Given the description of an element on the screen output the (x, y) to click on. 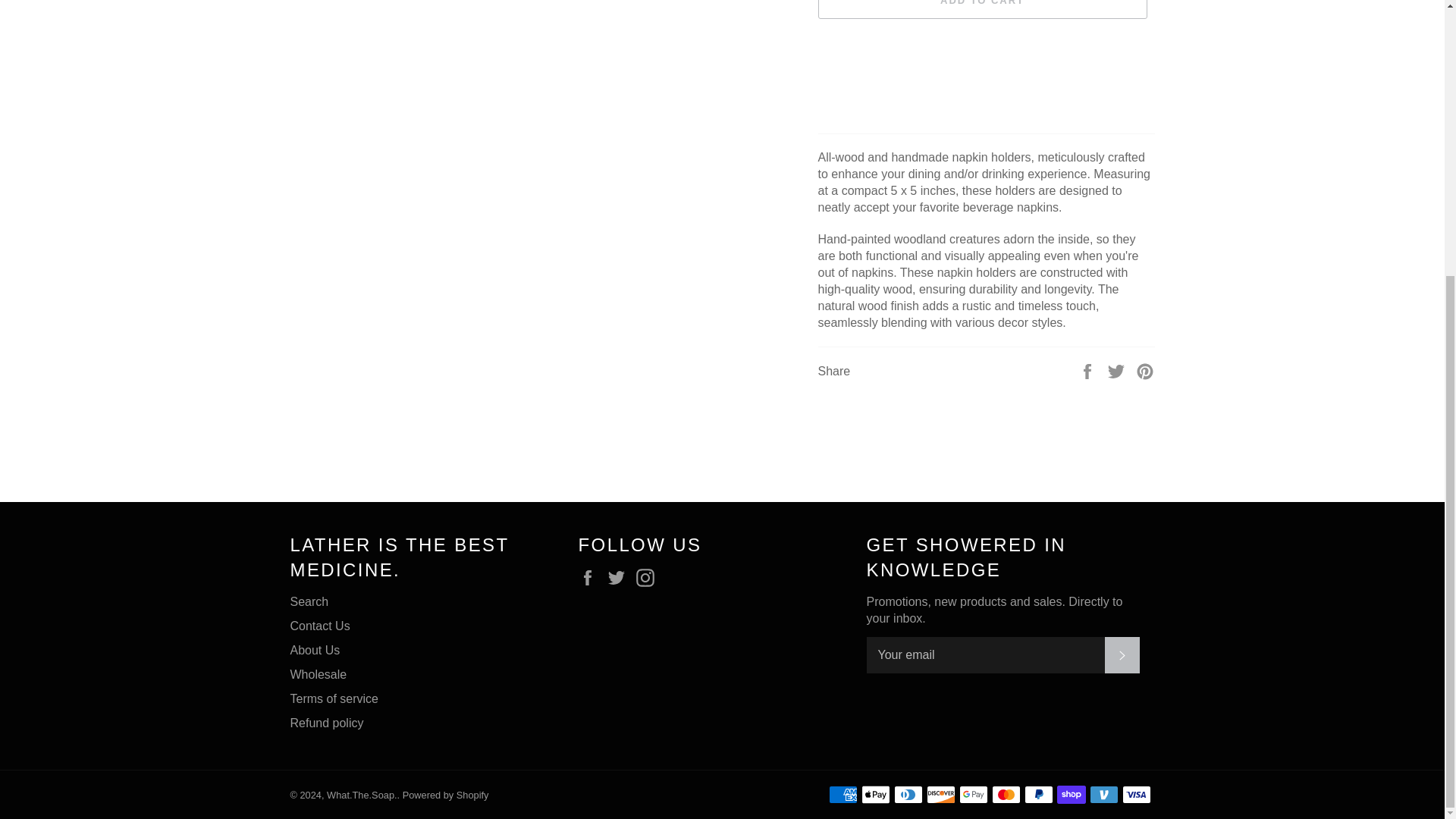
What.The.Soap. on Instagram (649, 577)
What.The.Soap. on Twitter (620, 577)
Share on Facebook (1088, 369)
Share on Facebook (1088, 369)
Tweet on Twitter (1117, 369)
Tweet on Twitter (1117, 369)
What.The.Soap. on Facebook (591, 577)
ADD TO CART (981, 9)
Pin on Pinterest (1144, 369)
